Given the description of an element on the screen output the (x, y) to click on. 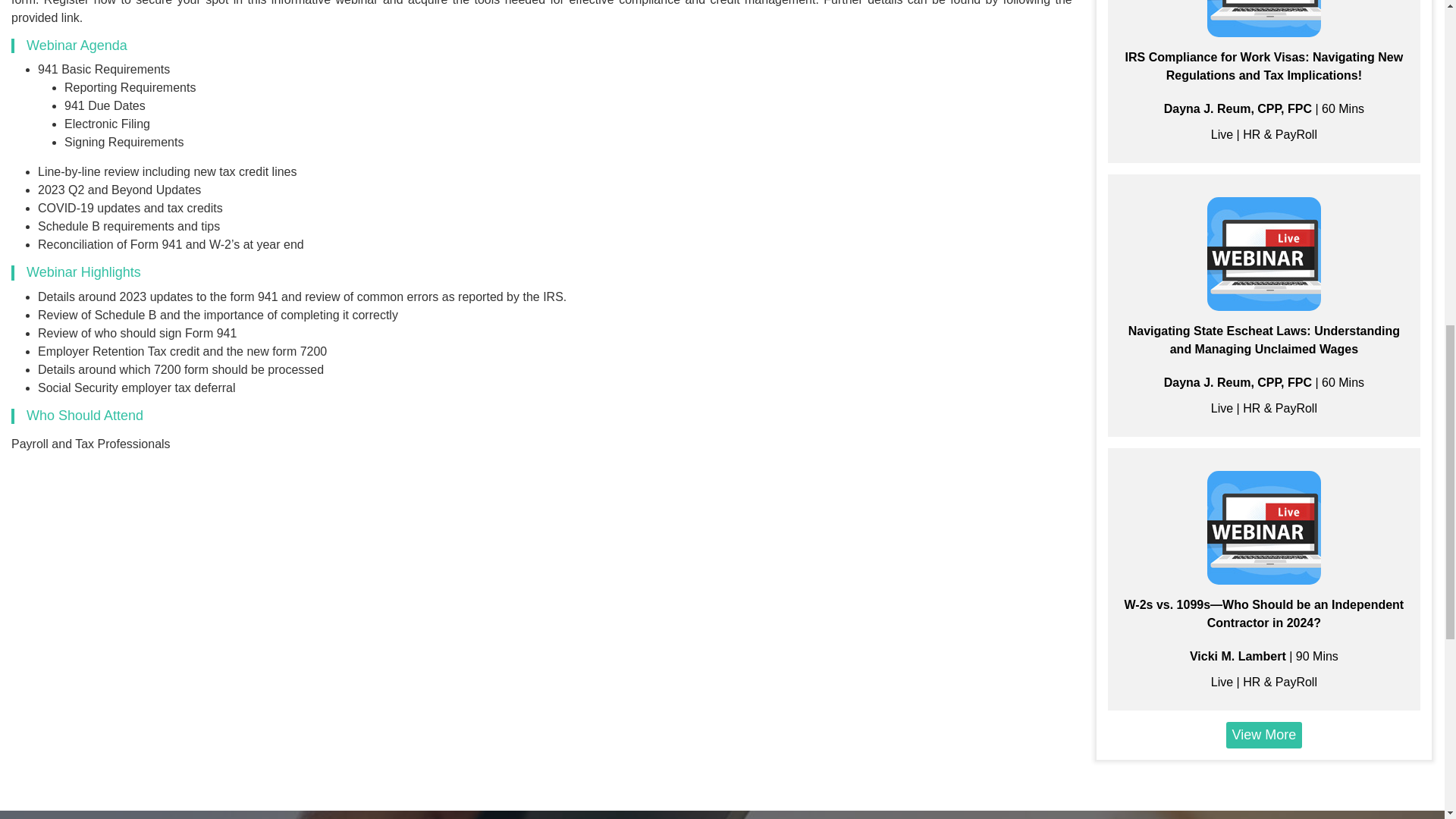
View More (1264, 734)
